Given the description of an element on the screen output the (x, y) to click on. 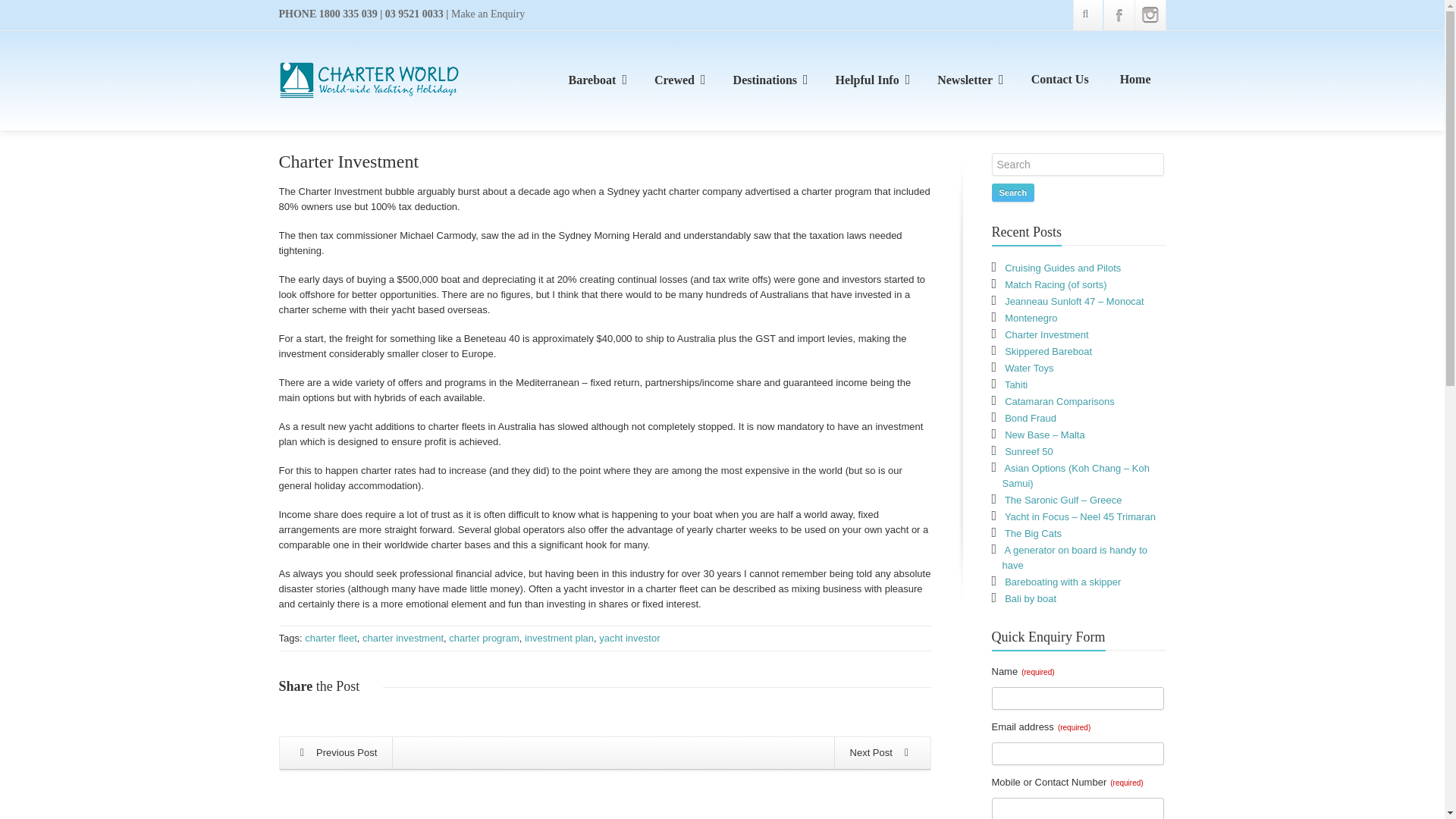
Crewed (678, 79)
Montenegro (881, 752)
Instagram (1149, 15)
Facebook (1118, 15)
Make an Enquiry (487, 13)
Helpful Info (871, 79)
Bareboat (596, 79)
Skippered Bareboat (337, 752)
Destinations (768, 79)
